Given the description of an element on the screen output the (x, y) to click on. 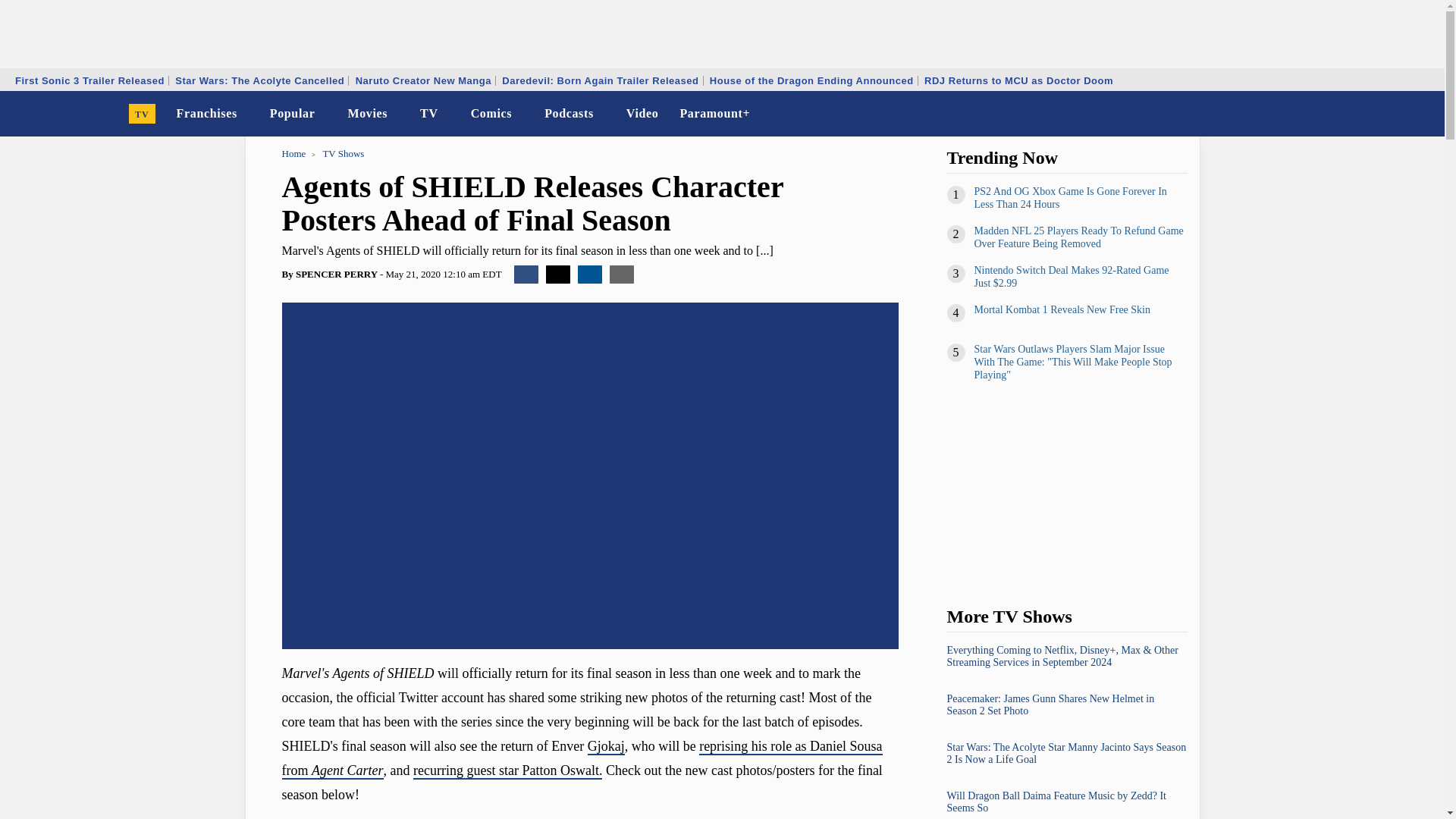
Daredevil: Born Again Trailer Released (599, 80)
First Sonic 3 Trailer Released (89, 80)
Search (1422, 114)
Movies (366, 113)
Naruto Creator New Manga (423, 80)
TV (142, 113)
House of the Dragon Ending Announced (811, 80)
Popular (292, 113)
Star Wars: The Acolyte Cancelled (259, 80)
Dark Mode (1394, 113)
